Given the description of an element on the screen output the (x, y) to click on. 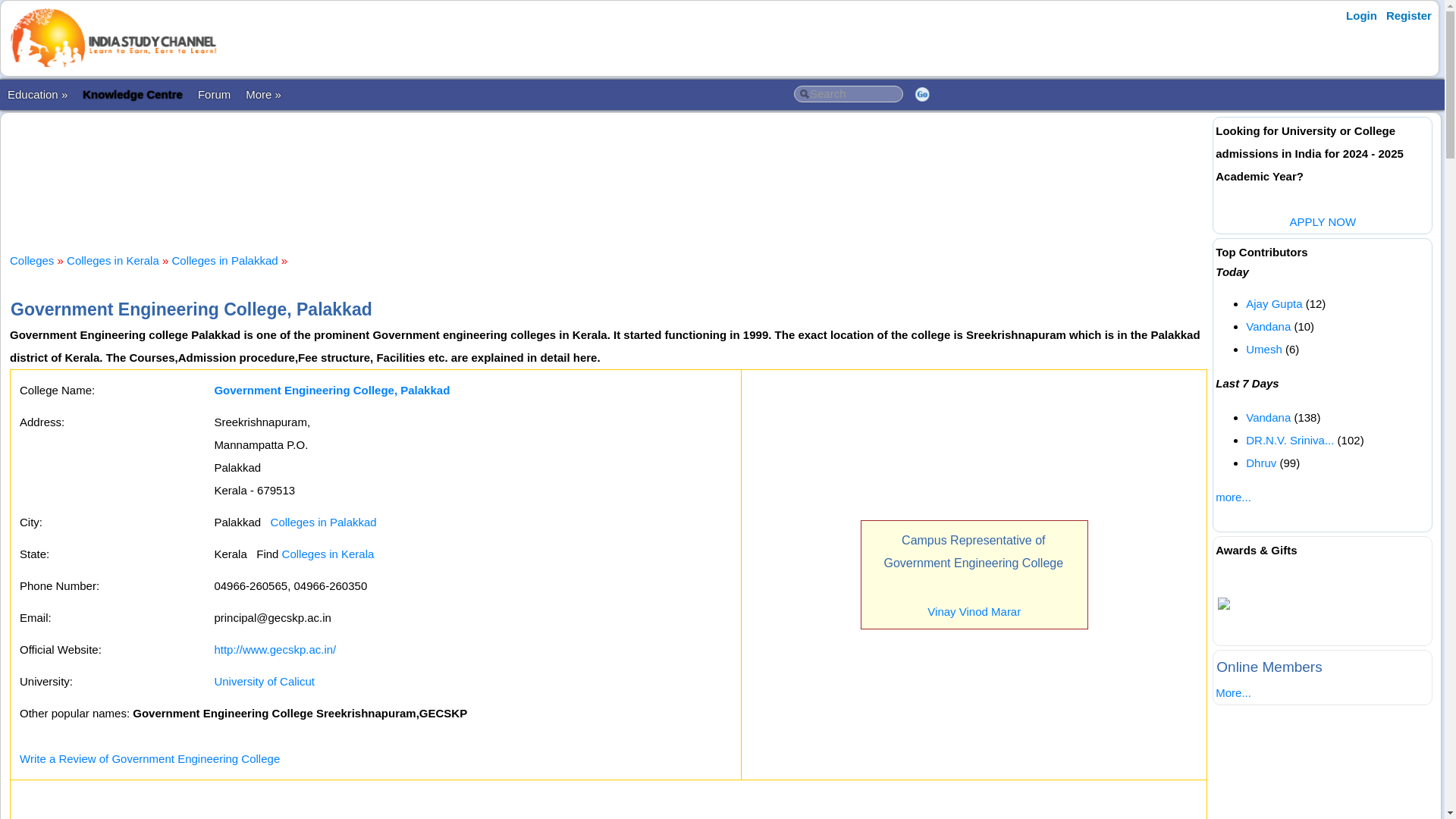
University of Calicut (264, 680)
Colleges in Palakkad (224, 259)
Vinay Vinod Marar (973, 611)
Forum (214, 94)
Colleges (31, 259)
Colleges in Kerala (112, 259)
Colleges in Kerala (328, 553)
Search (847, 93)
Knowledge Centre (132, 94)
Search (847, 93)
Colleges in Palakkad (323, 521)
Write a Review of Government Engineering College (149, 758)
Register (1409, 15)
Government Engineering College, Palakkad (331, 390)
Login (1361, 15)
